Given the description of an element on the screen output the (x, y) to click on. 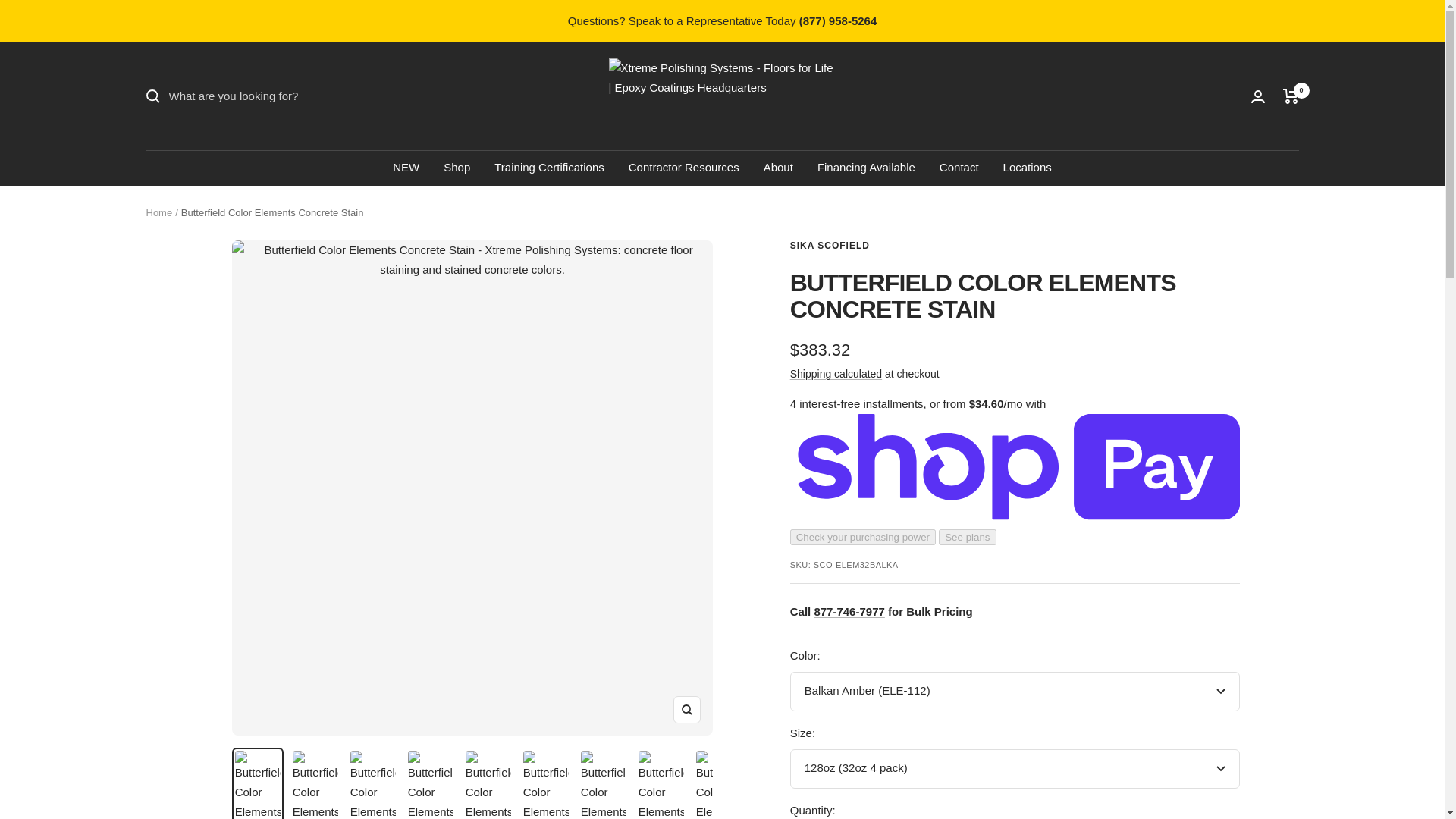
Xtreme Polishing Systems (721, 96)
NEW (406, 167)
Zoom (686, 709)
0 (1290, 96)
Locations (1027, 167)
Training Certifications (549, 167)
About (777, 167)
Home (158, 212)
Shop (457, 167)
Contact (958, 167)
